Given the description of an element on the screen output the (x, y) to click on. 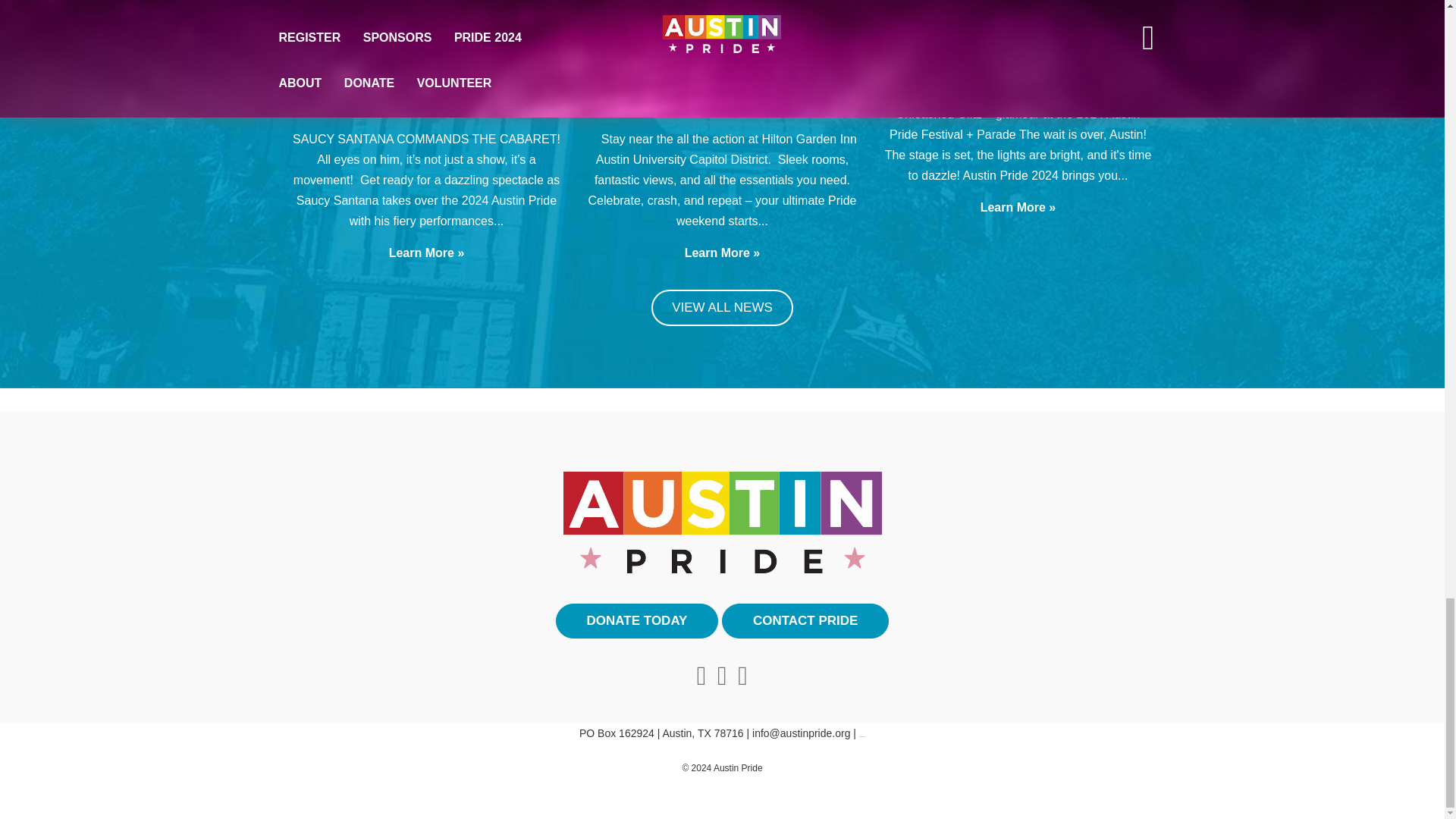
Instagram (742, 675)
The Austin Pride Foundation (721, 521)
Twitter (701, 675)
Facebook (721, 675)
